Given the description of an element on the screen output the (x, y) to click on. 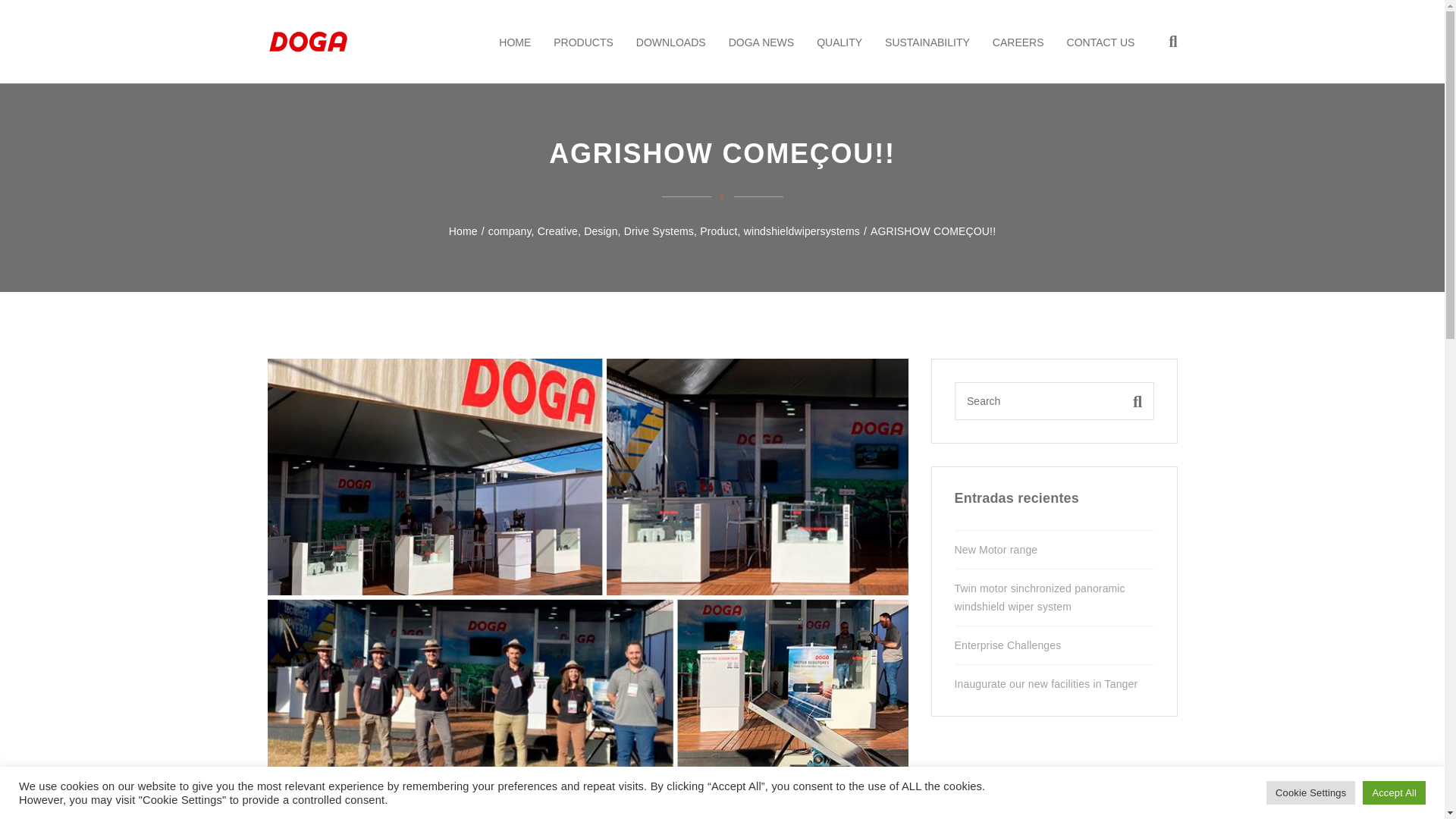
HOME (514, 42)
DOGA NEWS (761, 42)
SUSTAINABILITY (927, 42)
QUALITY (839, 42)
CONTACT US (1101, 42)
CAREERS (1018, 42)
PRODUCTS (582, 42)
DOWNLOADS (670, 42)
